Given the description of an element on the screen output the (x, y) to click on. 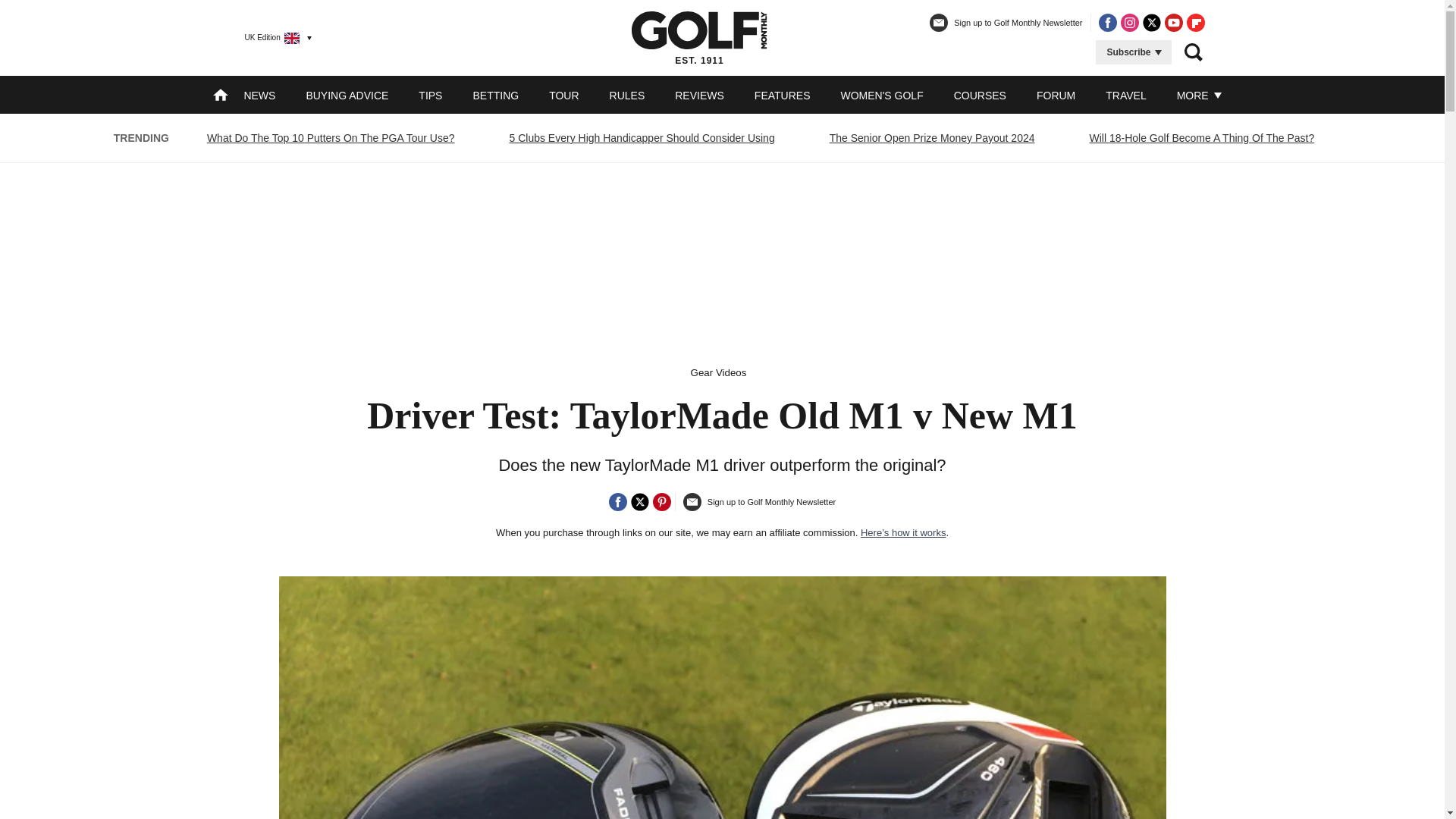
Sign up to Golf Monthly Newsletter (1005, 28)
The Senior Open Prize Money Payout 2024 (932, 137)
TIPS (430, 95)
COURSES (979, 95)
5 Clubs Every High Handicapper Should Consider Using (640, 137)
RULES (627, 95)
BETTING (494, 95)
FORUM (1055, 95)
BUYING ADVICE (346, 95)
FEATURES (782, 95)
WOMEN'S GOLF (881, 95)
TRAVEL (1125, 95)
NEWS (259, 95)
Will 18-Hole Golf Become A Thing Of The Past? (1202, 137)
EST. 1911 (699, 37)
